Given the description of an element on the screen output the (x, y) to click on. 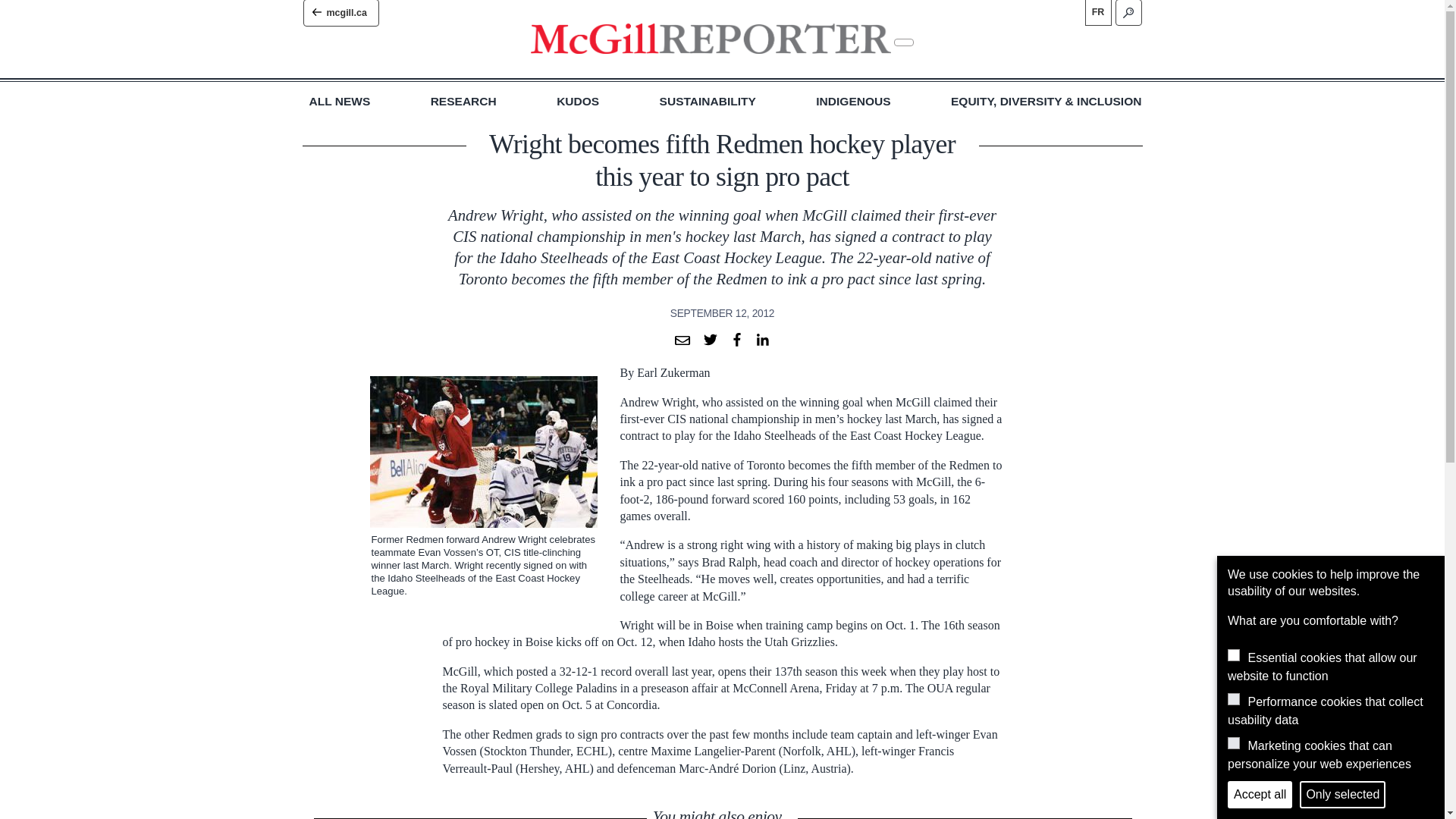
SUSTAINABILITY (707, 101)
RESEARCH (463, 101)
mcgill.ca (340, 13)
ALL NEWS (339, 101)
required (1233, 654)
KUDOS (576, 101)
performance (1233, 698)
FR (1097, 12)
marketing (1233, 743)
INDIGENOUS (852, 101)
